Given the description of an element on the screen output the (x, y) to click on. 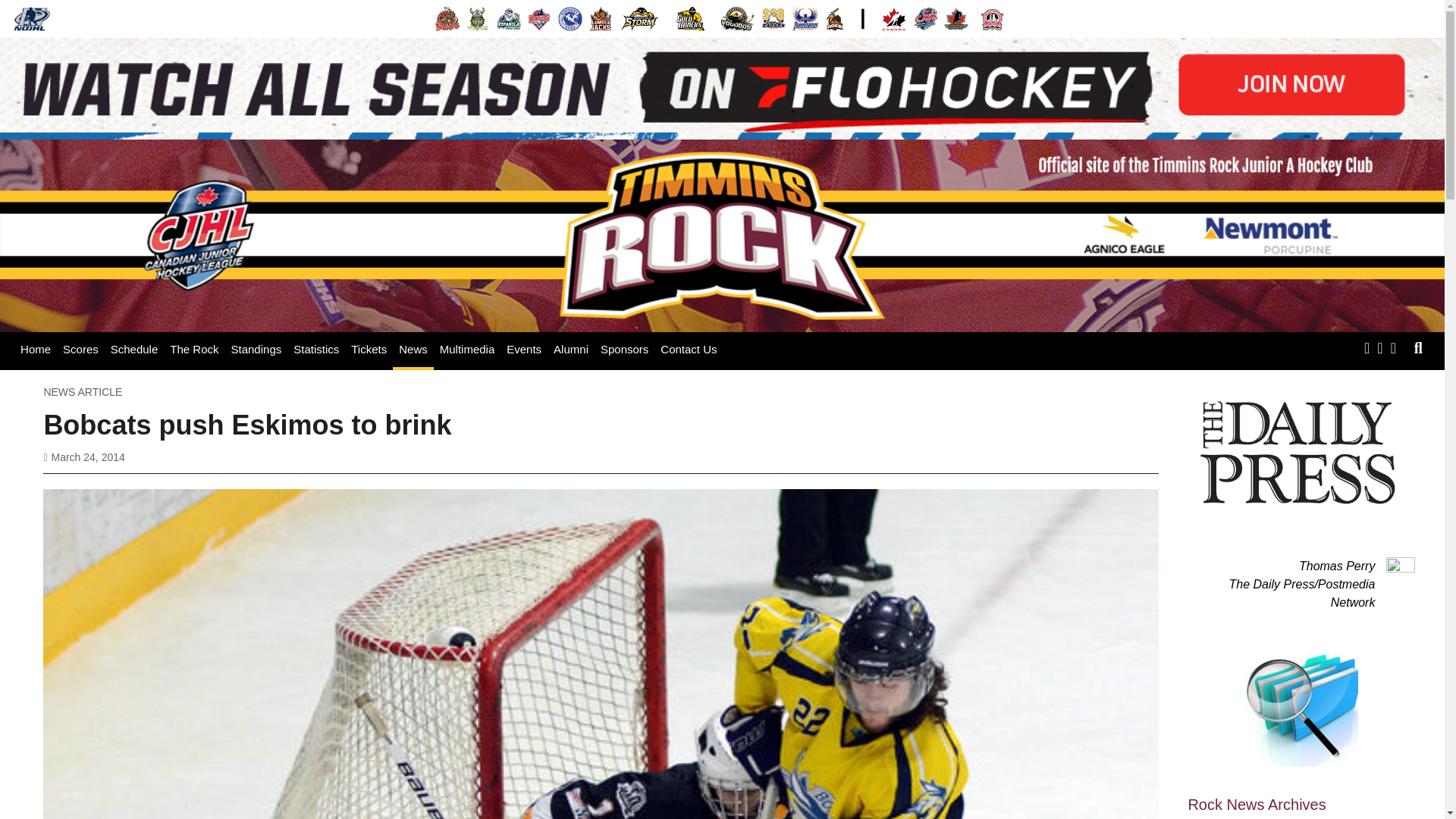
Espanola Paper Kings (508, 18)
Blind River Beavers (447, 18)
Elliot Lake Vikings (478, 18)
Greater Sudbury Cubs (569, 18)
Powassan Voodoos (737, 18)
Hearst Lumberjacks (600, 18)
Kirkland Lake Gold Miners (690, 18)
Soo Eagles (773, 18)
Iroquois Falls Storm (639, 18)
French River Rapids (539, 18)
NOJHL (31, 18)
